Given the description of an element on the screen output the (x, y) to click on. 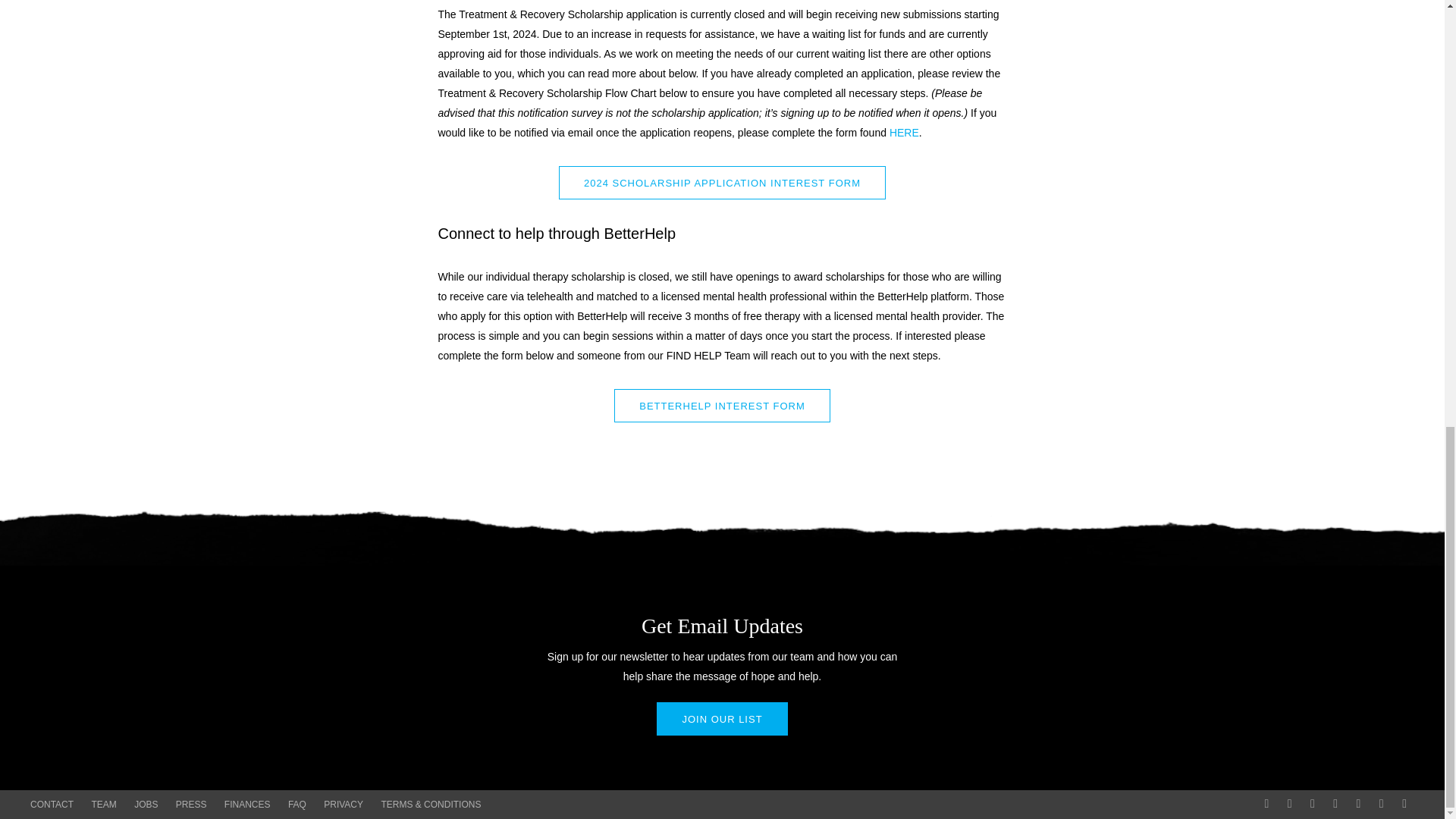
PRIVACY (342, 804)
PRESS (191, 804)
Pinterest (1358, 802)
Twitter (1265, 802)
TikTok (1335, 802)
YouTube (1381, 802)
Facebook (1289, 802)
TEAM (103, 804)
2024 SCHOLARSHIP APPLICATION INTEREST FORM (722, 182)
FAQ (296, 804)
Email (1404, 802)
JOIN OUR LIST (721, 718)
Instagram (1312, 802)
FINANCES (247, 804)
BETTERHELP INTEREST FORM (721, 405)
